Given the description of an element on the screen output the (x, y) to click on. 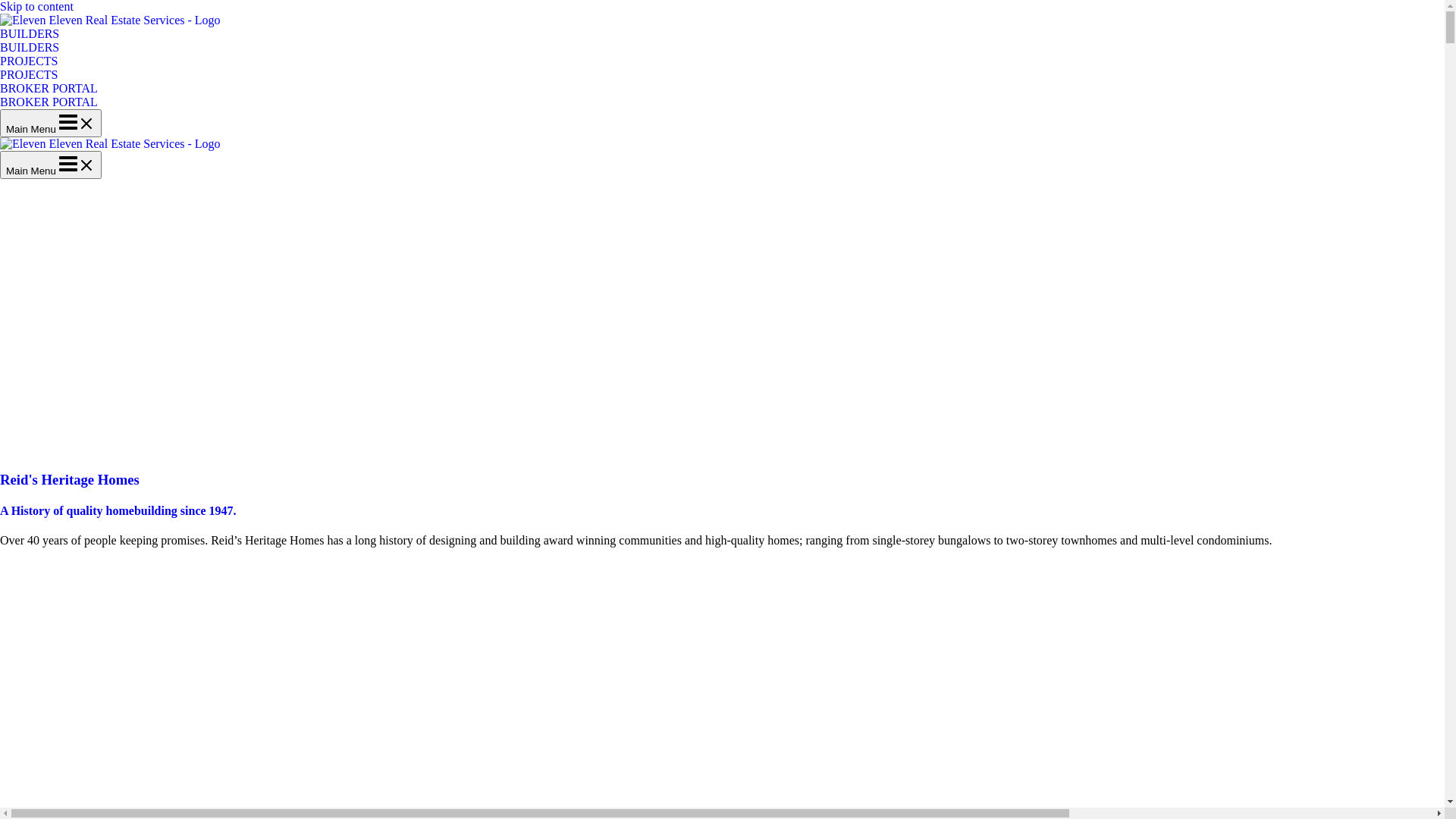
A History of quality homebuilding since 1947. Element type: text (118, 510)
BUILDERS Element type: text (29, 46)
BUILDERS Element type: text (722, 40)
PROJECTS Element type: text (722, 67)
Main Menu Element type: text (50, 123)
Skip to content Element type: text (36, 6)
Main Menu Element type: text (50, 164)
PROJECTS Element type: text (28, 74)
BROKER PORTAL Element type: text (722, 94)
BROKER PORTAL Element type: text (48, 101)
Reid's Heritage Homes Element type: text (69, 479)
